Given the description of an element on the screen output the (x, y) to click on. 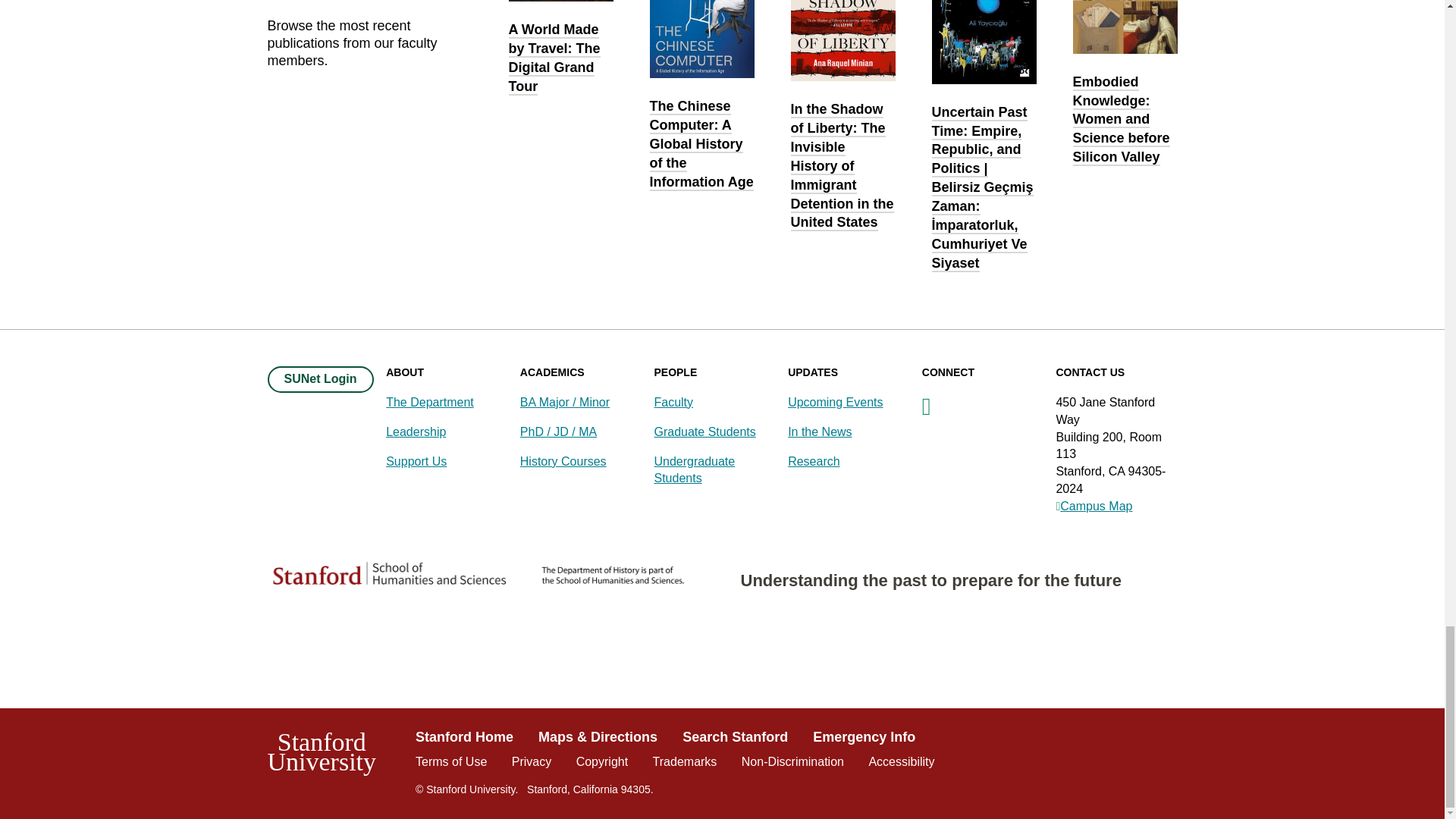
Report web accessibility issues (900, 761)
Terms of use for sites (450, 761)
Privacy and cookie policy (531, 761)
Ownership and use of Stanford trademarks and images (684, 761)
Non-discrimination policy (792, 761)
Report alleged copyright infringement (601, 761)
